Given the description of an element on the screen output the (x, y) to click on. 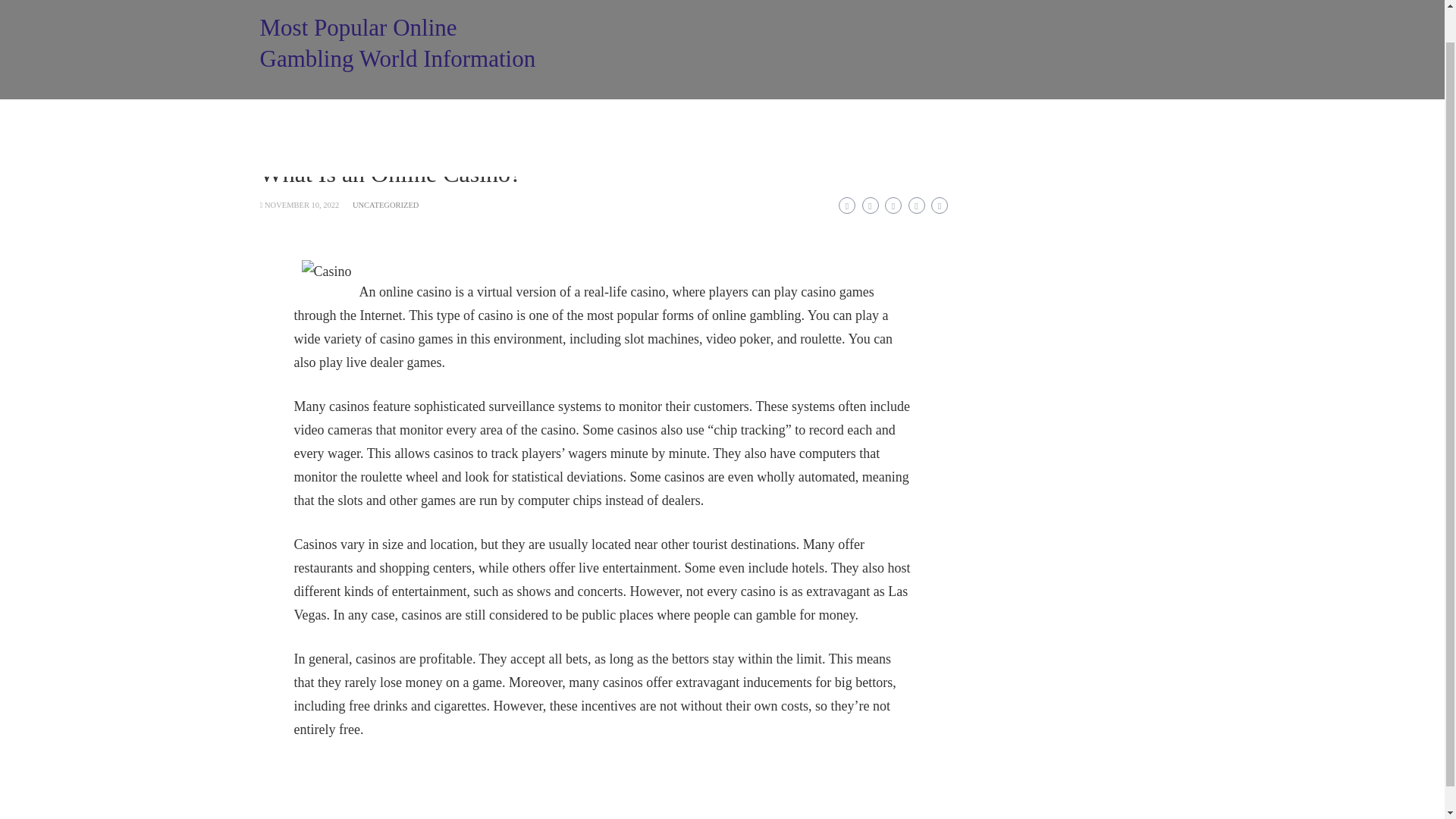
Togel Hari Ini (607, 118)
Most Popular Online Gambling World Information (397, 43)
UNCATEGORIZED (385, 204)
Togel Hongkong (709, 118)
Bocoran HK (1131, 118)
Togel singapore (589, 157)
Pengeluaran SGP (315, 118)
HK Pools (518, 118)
hk hari ini (919, 157)
demo slot (997, 157)
